Given the description of an element on the screen output the (x, y) to click on. 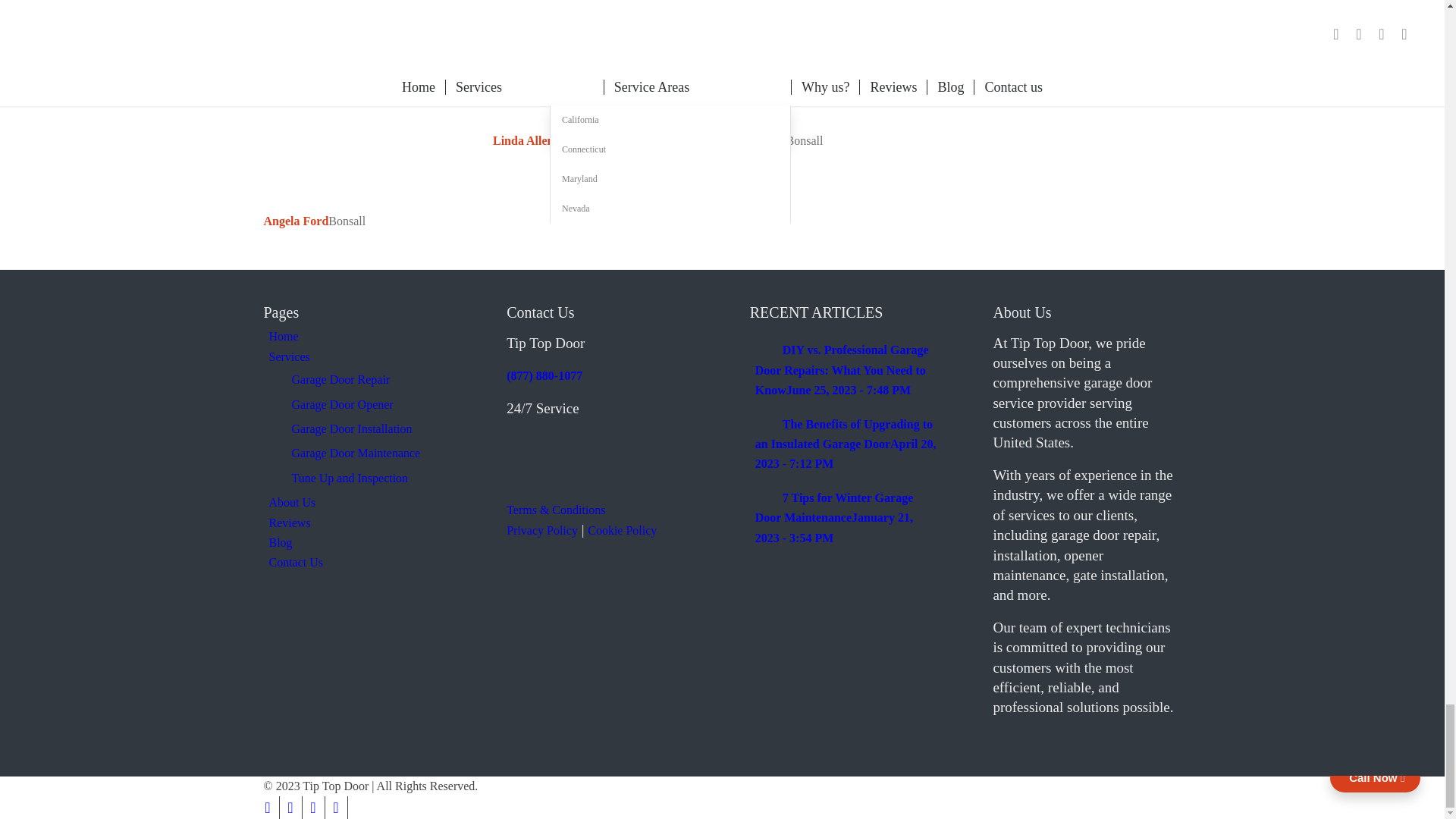
The Benefits of Upgrading to an Insulated Garage Door (845, 443)
7 Tips for Winter Garage Door Maintenance (833, 517)
